Given the description of an element on the screen output the (x, y) to click on. 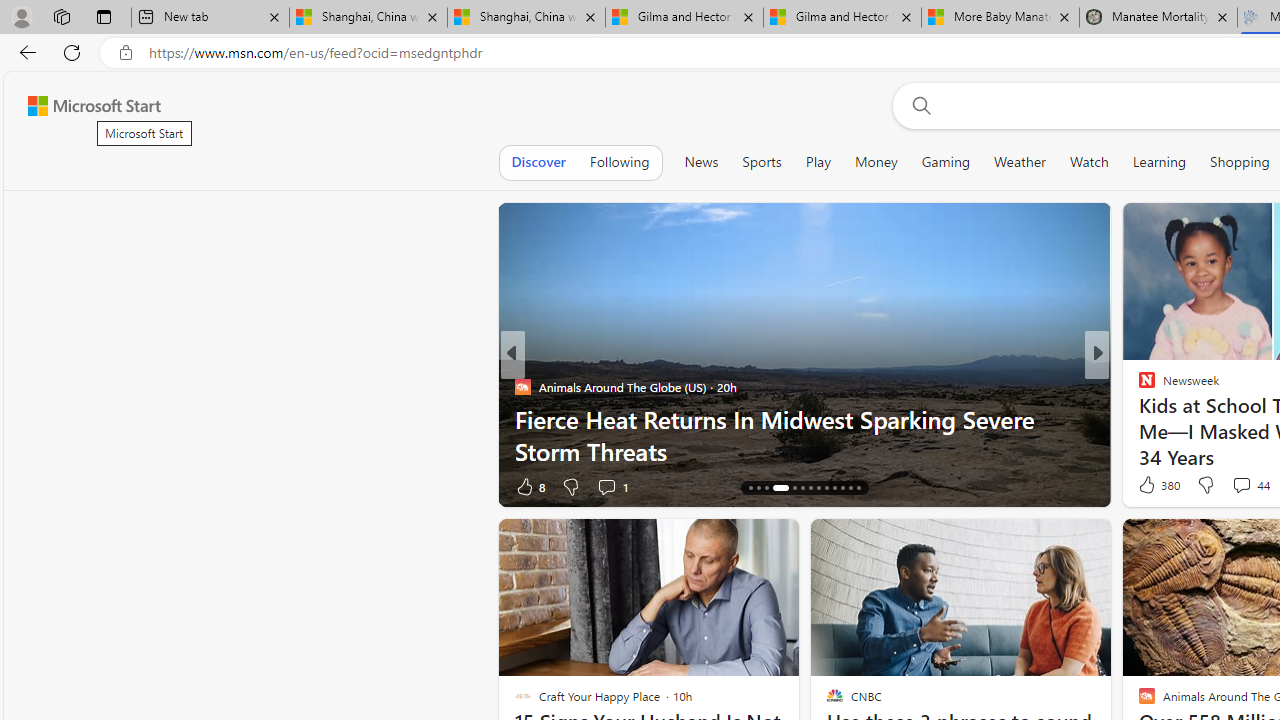
View comments 3 Comment (1241, 486)
Animals Around The Globe (US) (522, 386)
View comments 56 Comment (1234, 485)
View comments 196 Comment (1247, 486)
View comments 44 Comment (1241, 485)
loveMONEY (1138, 386)
View comments 1 Comment (1222, 485)
Inc. (1138, 386)
AutomationID: tab-24 (842, 487)
